Given the description of an element on the screen output the (x, y) to click on. 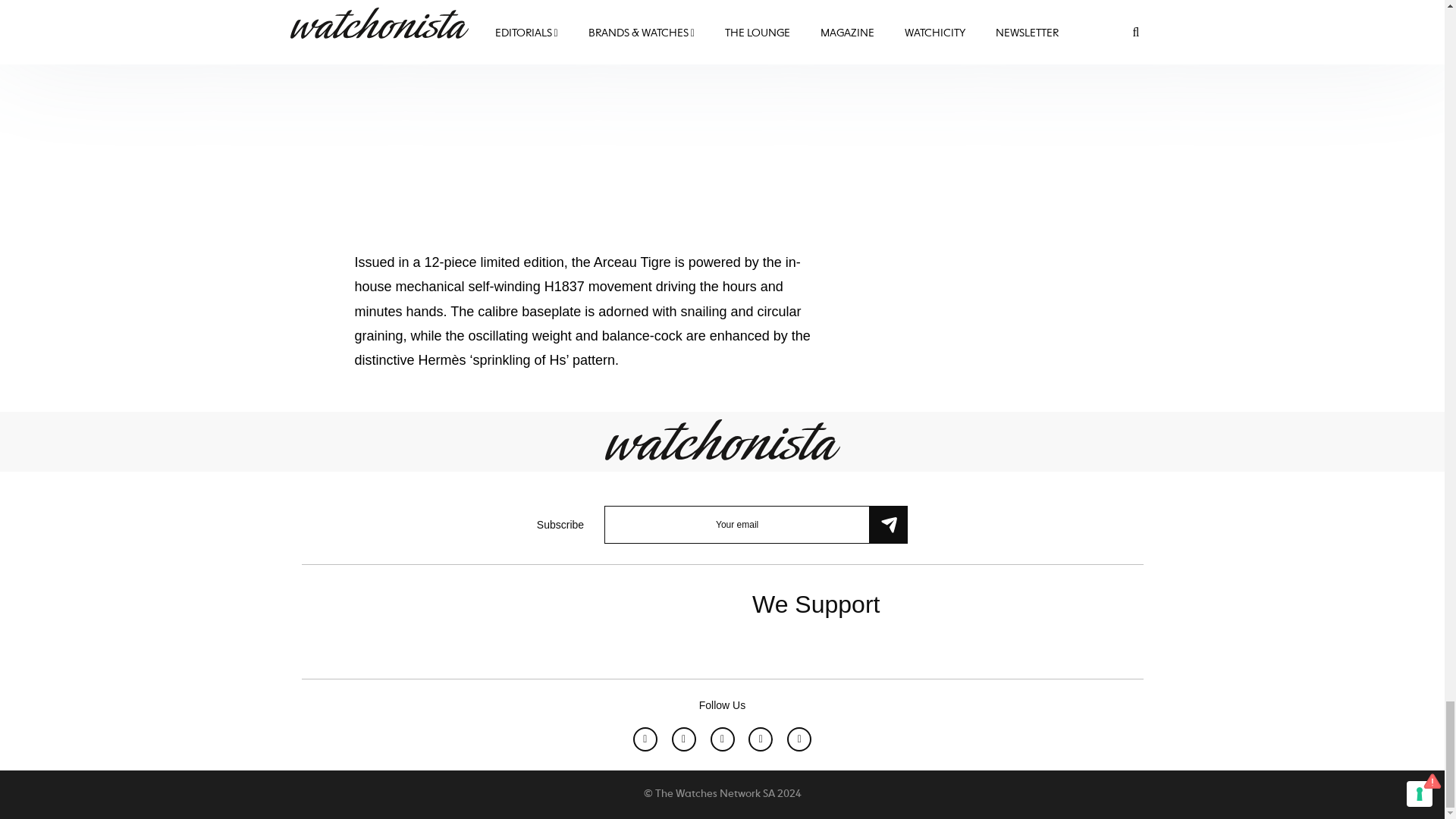
Subscribe (888, 524)
